Given the description of an element on the screen output the (x, y) to click on. 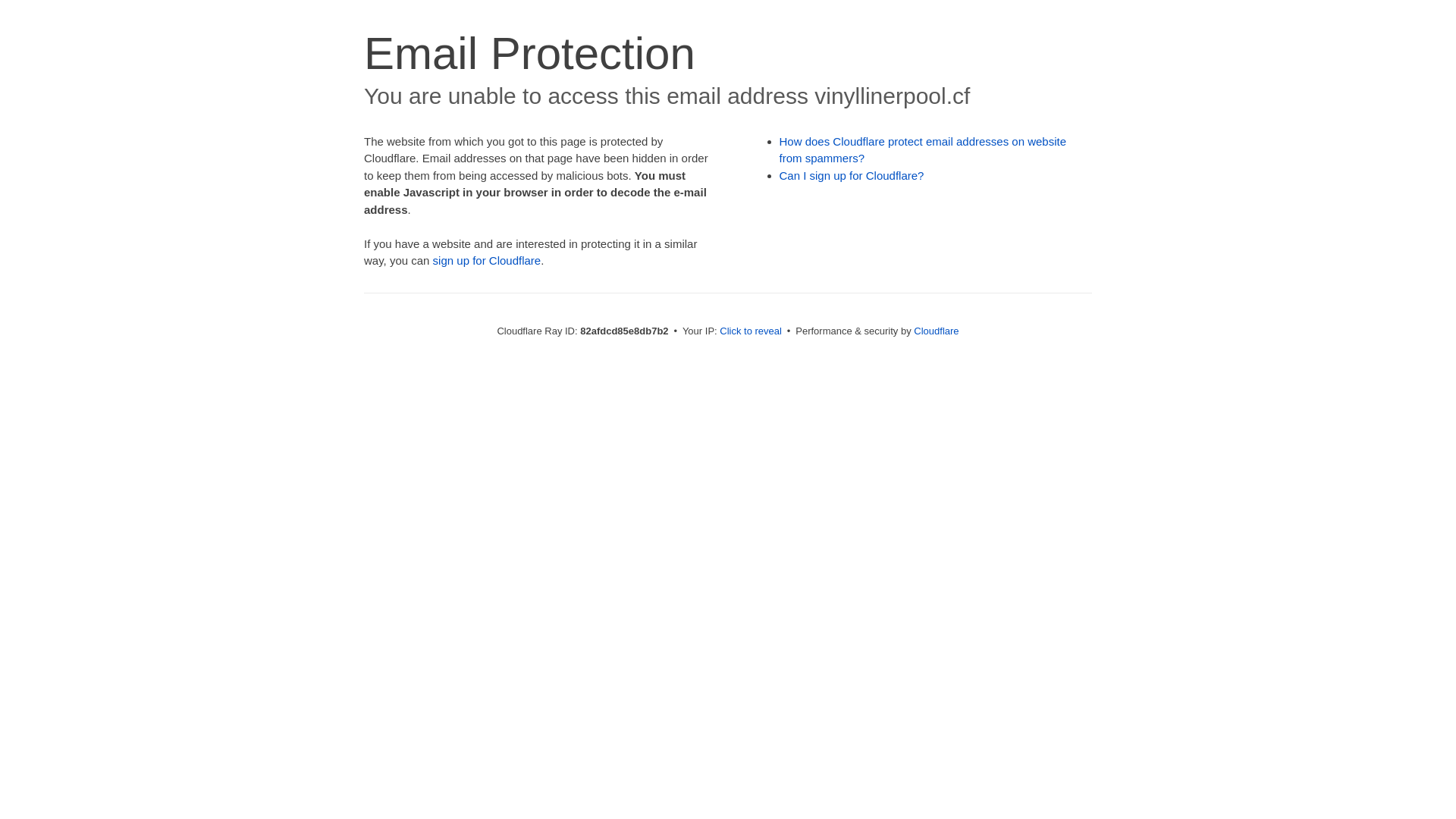
Cloudflare Element type: text (935, 330)
Can I sign up for Cloudflare? Element type: text (851, 175)
sign up for Cloudflare Element type: text (487, 260)
Click to reveal Element type: text (750, 330)
